Given the description of an element on the screen output the (x, y) to click on. 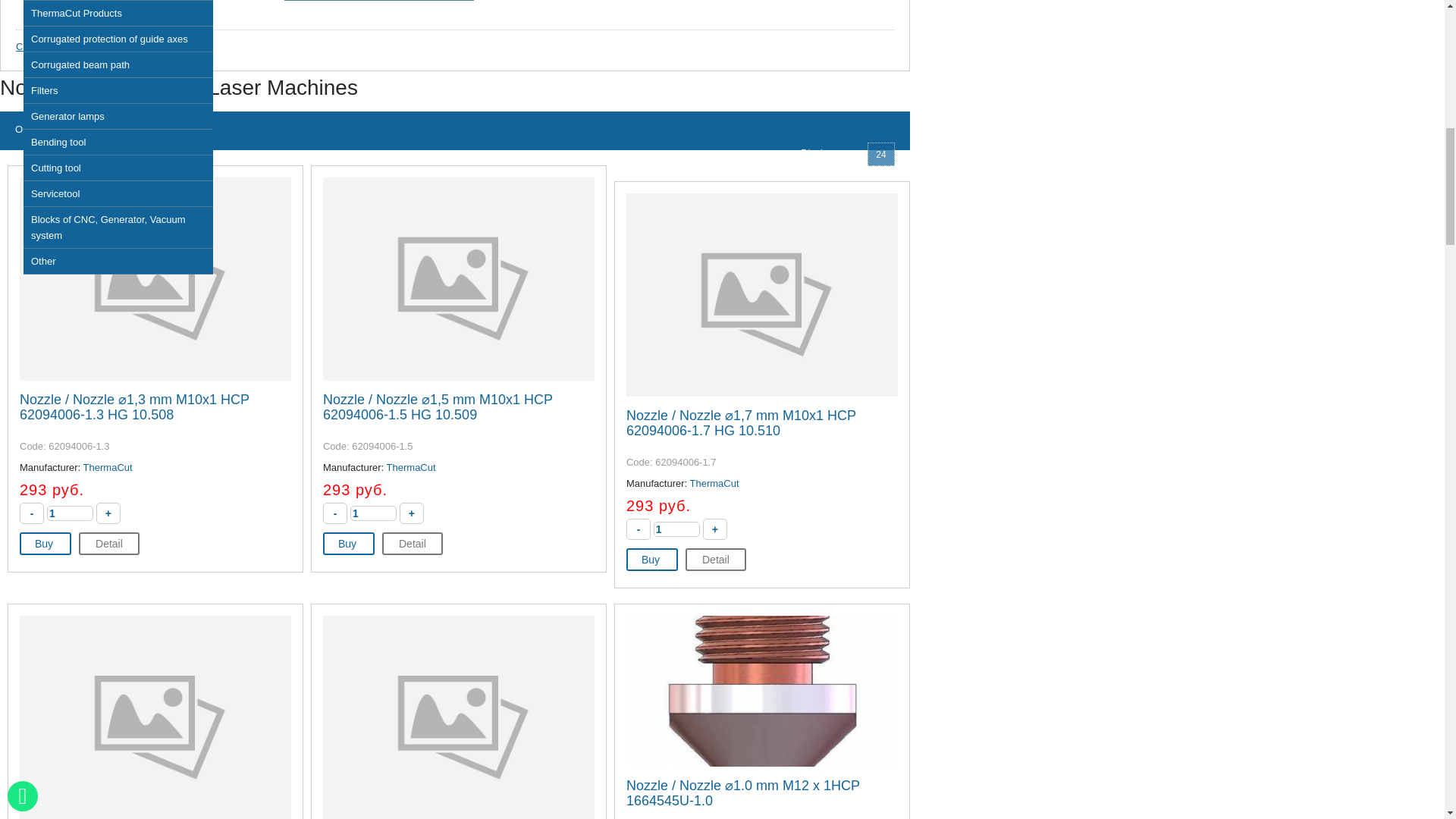
1 (676, 529)
337 (62, 4)
1 (373, 513)
1 (69, 513)
